Given the description of an element on the screen output the (x, y) to click on. 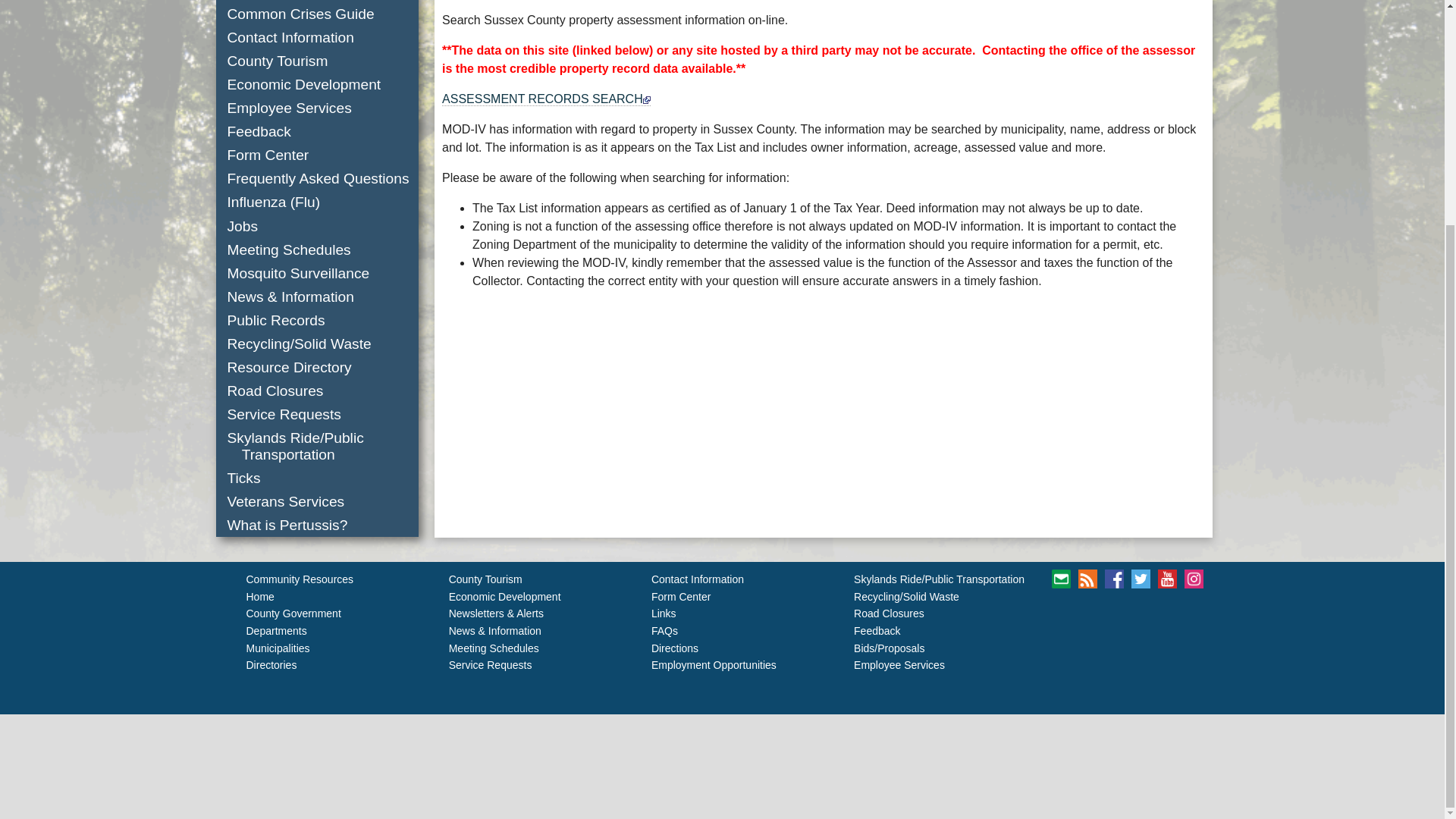
Visit our Instagram page (1194, 578)
Follow us on Twitter (1140, 578)
Sign Up for emails from Sussex County (1060, 578)
Visit our YouTube channel (1166, 578)
Visit our RSS feed (1087, 578)
Visit our Facebook page (1114, 578)
